Given the description of an element on the screen output the (x, y) to click on. 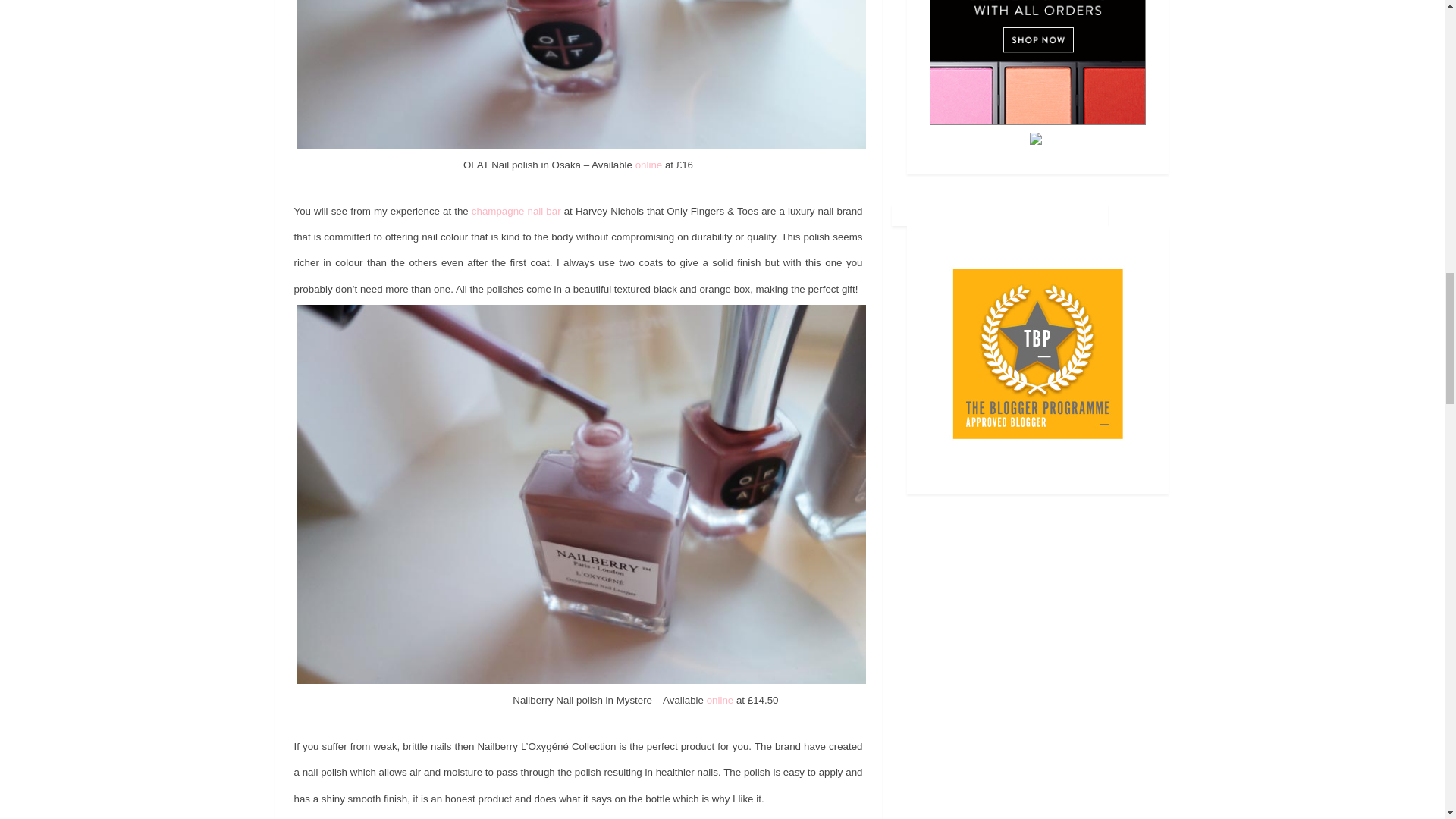
champagne nail bar (515, 211)
online (648, 164)
online (719, 699)
